Given the description of an element on the screen output the (x, y) to click on. 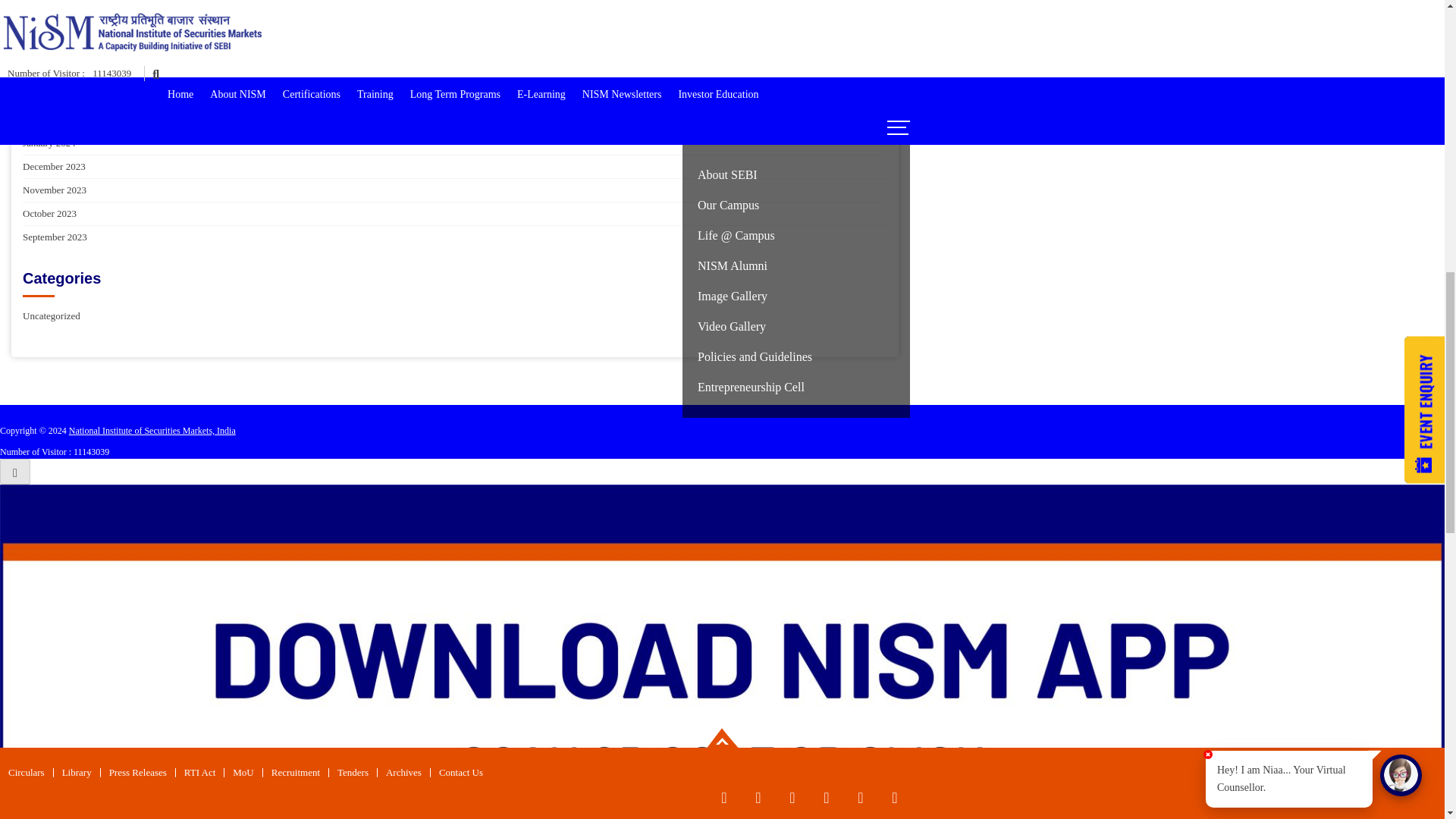
Restart (1393, 87)
November 2023 (454, 190)
Commodity Derivatives in India Demystified: FAQs and Answers (454, 16)
December 2023 (454, 166)
January 2024 (454, 142)
Minimize (1415, 87)
Profit Margins and Growth Prospects (454, 64)
October 2023 (454, 213)
